Given the description of an element on the screen output the (x, y) to click on. 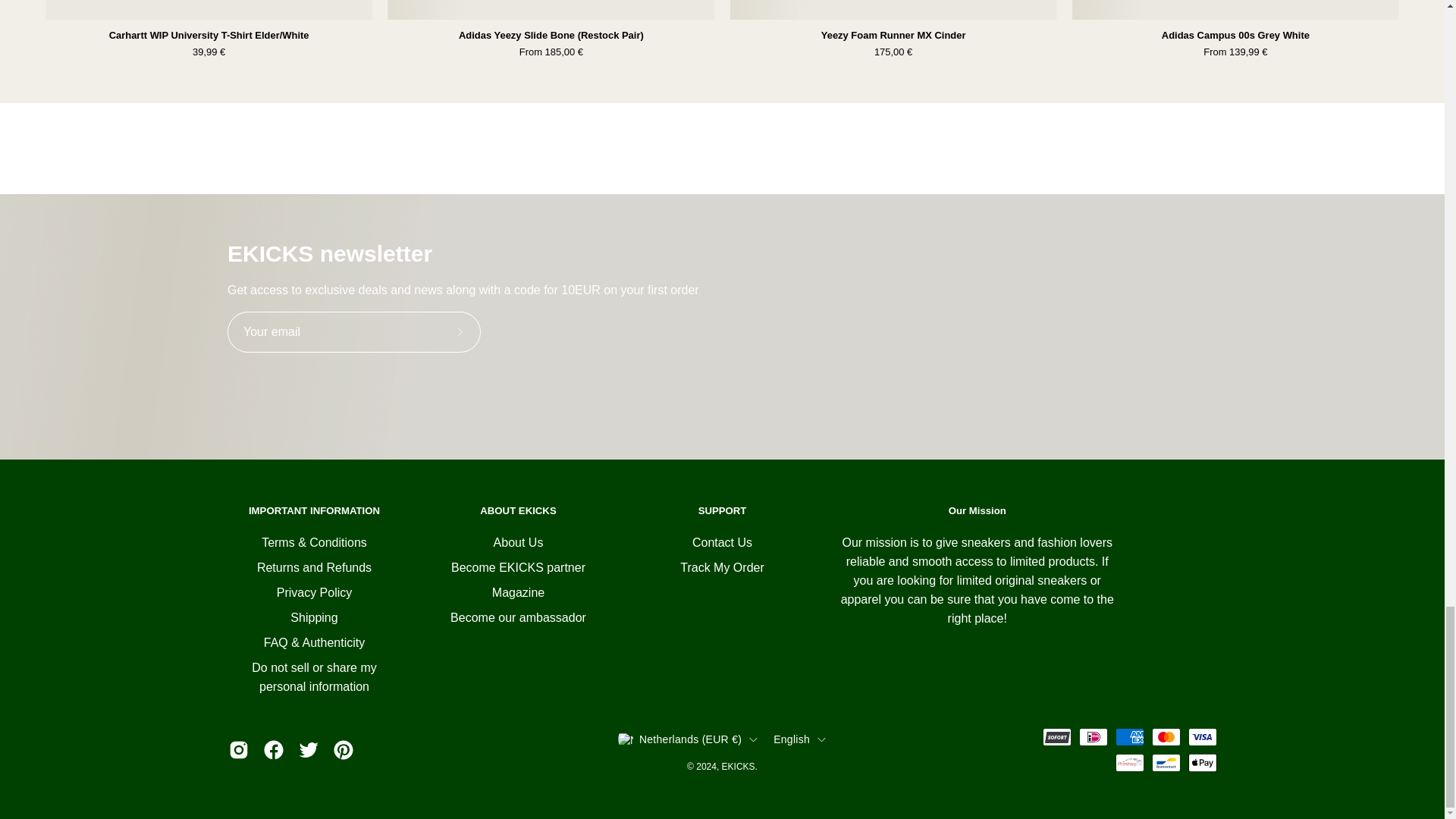
View EKICKS on Facebook (273, 749)
View EKICKS on Twitter (308, 749)
View EKICKS on Pinterest (343, 749)
View EKICKS on Instagram (238, 749)
